Given the description of an element on the screen output the (x, y) to click on. 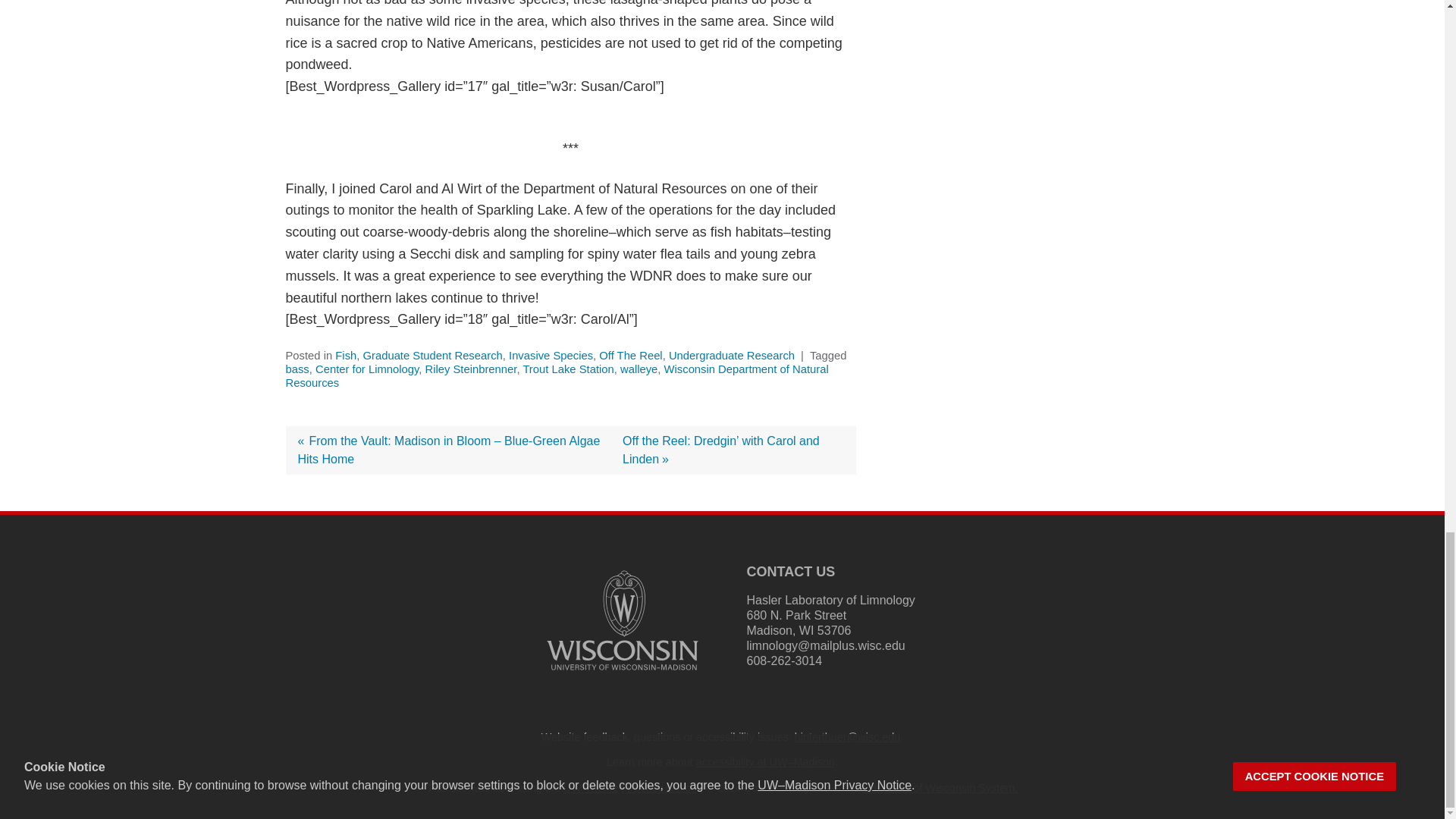
University logo that links to main university website (621, 620)
University logo that links to main university website (621, 672)
Center for Limnology (367, 369)
Invasive Species (550, 355)
bass (296, 369)
Undergraduate Research (731, 355)
Off The Reel (630, 355)
Trout Lake Station (567, 369)
Wisconsin Department of Natural Resources (556, 376)
Graduate Student Research (432, 355)
